Given the description of an element on the screen output the (x, y) to click on. 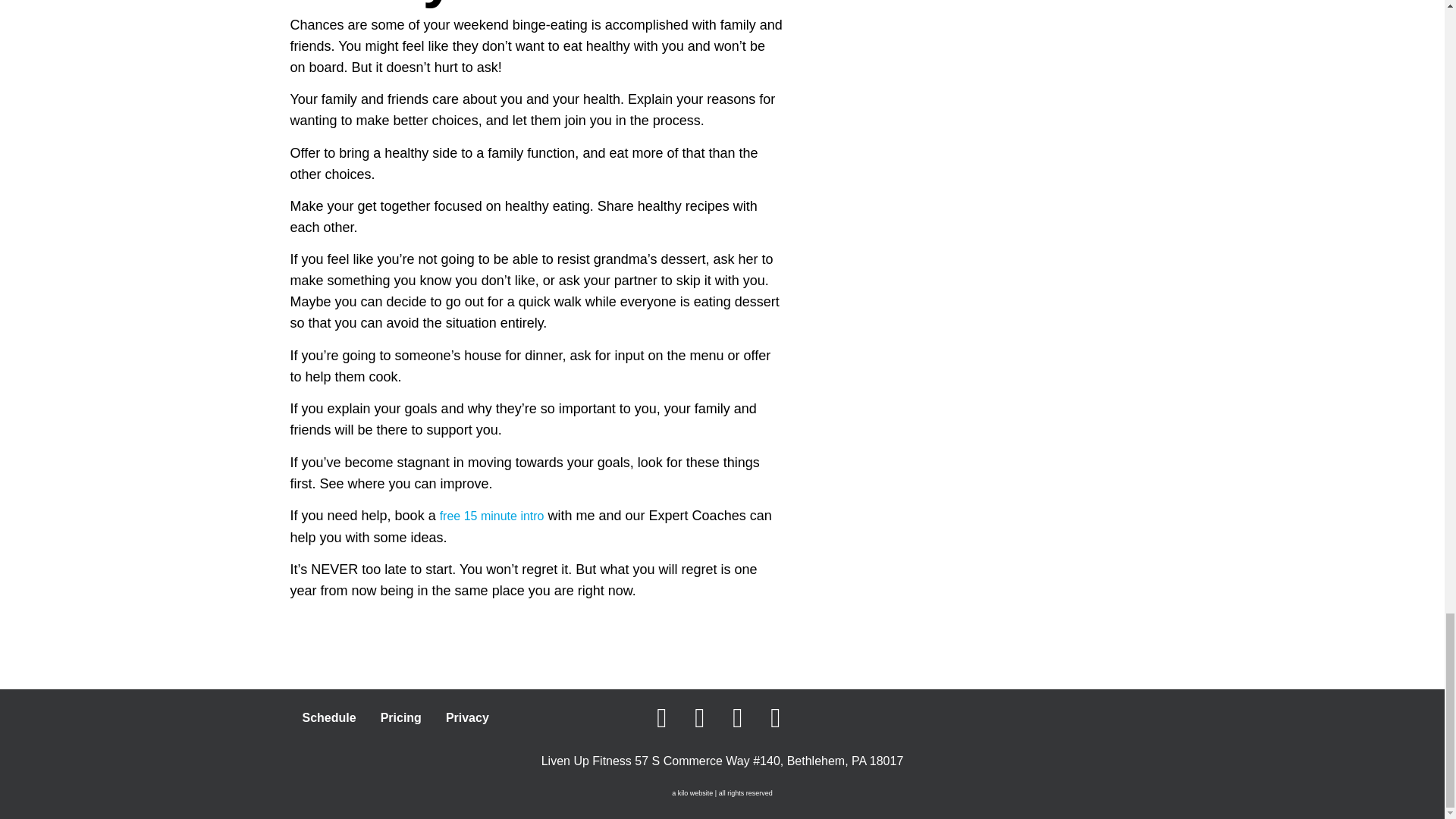
Pricing (400, 717)
free 15 minute intro (491, 515)
a kilo website (692, 792)
Privacy (466, 717)
Schedule (328, 717)
